Given the description of an element on the screen output the (x, y) to click on. 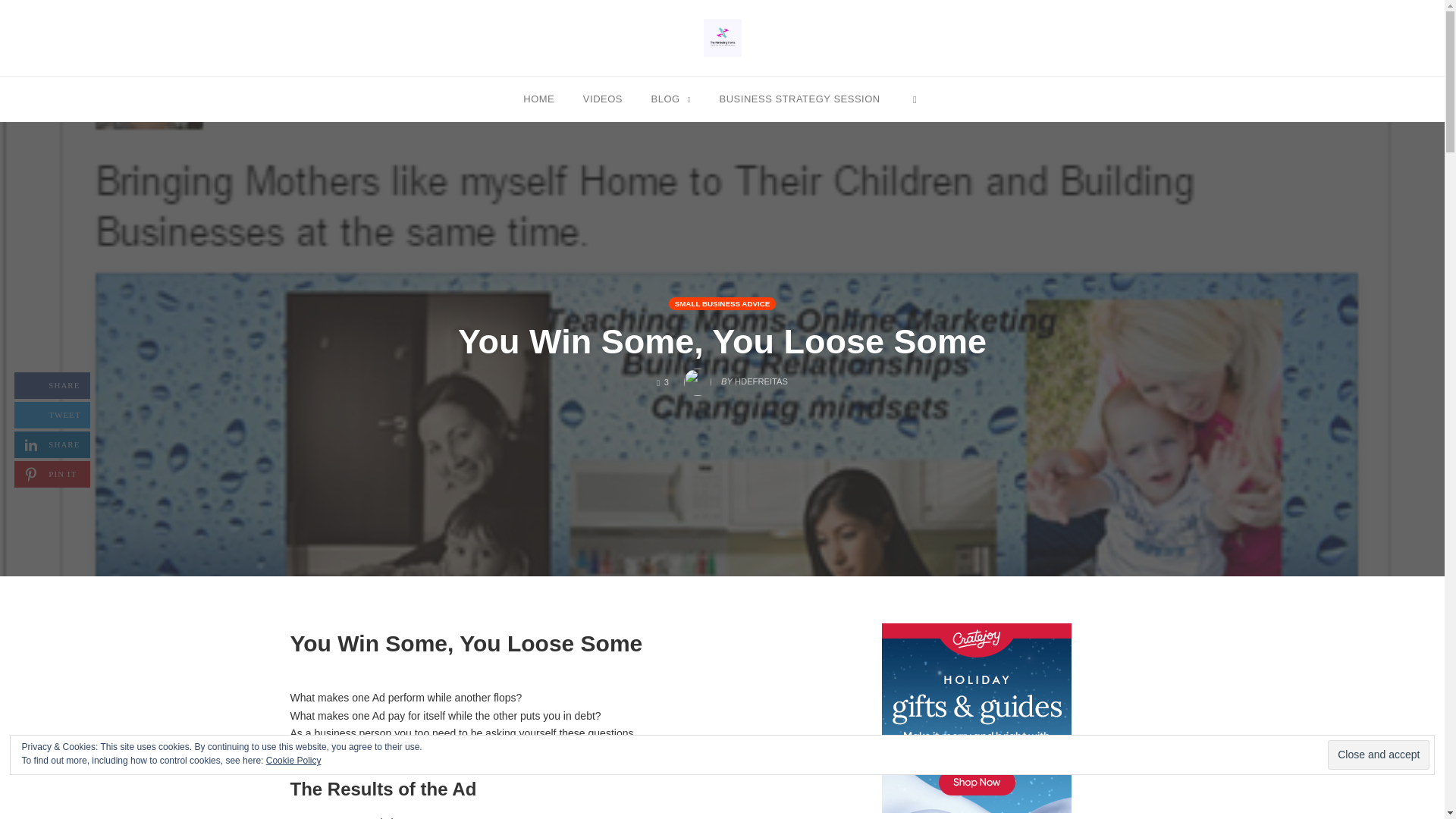
BLOG (670, 97)
HOME (538, 97)
Close and accept (1378, 754)
BUSINESS STRATEGY SESSION (799, 97)
VIDEOS (52, 444)
The Marketing Moms (602, 97)
SMALL BUSINESS ADVICE (722, 37)
BY HDEFREITAS (722, 303)
